Given the description of an element on the screen output the (x, y) to click on. 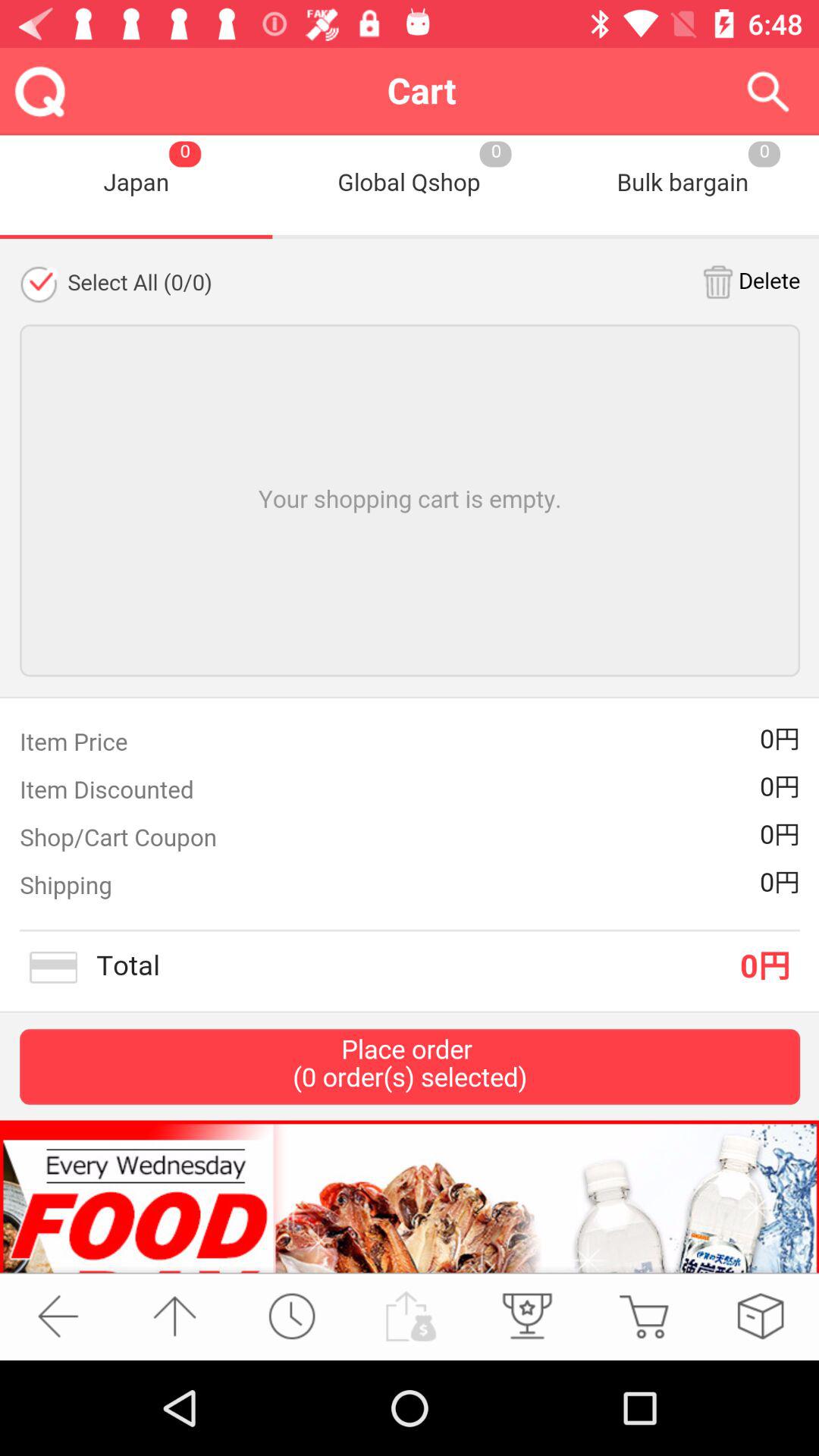
page up (174, 1316)
